Given the description of an element on the screen output the (x, y) to click on. 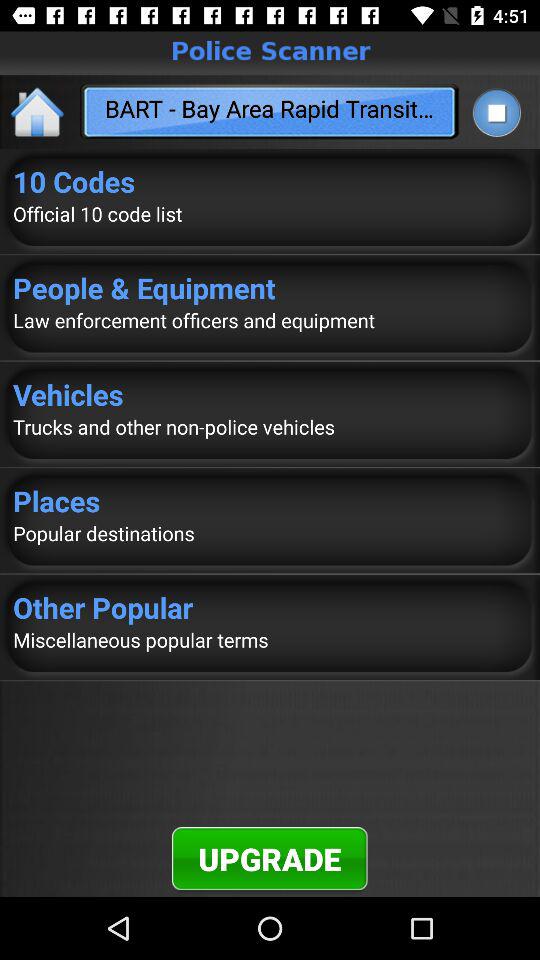
turn off the other popular app (269, 607)
